Given the description of an element on the screen output the (x, y) to click on. 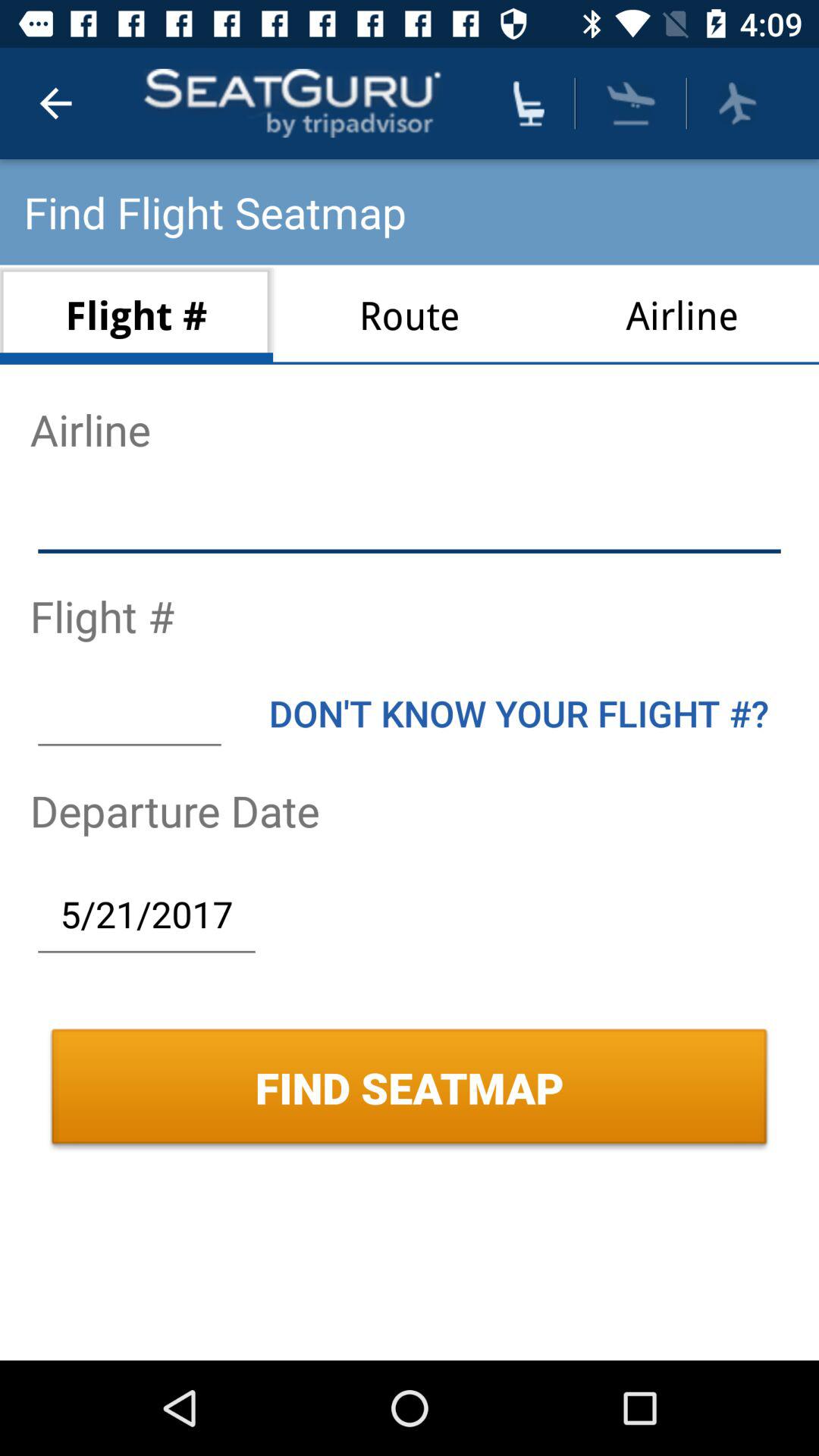
type the text bar (129, 712)
